Given the description of an element on the screen output the (x, y) to click on. 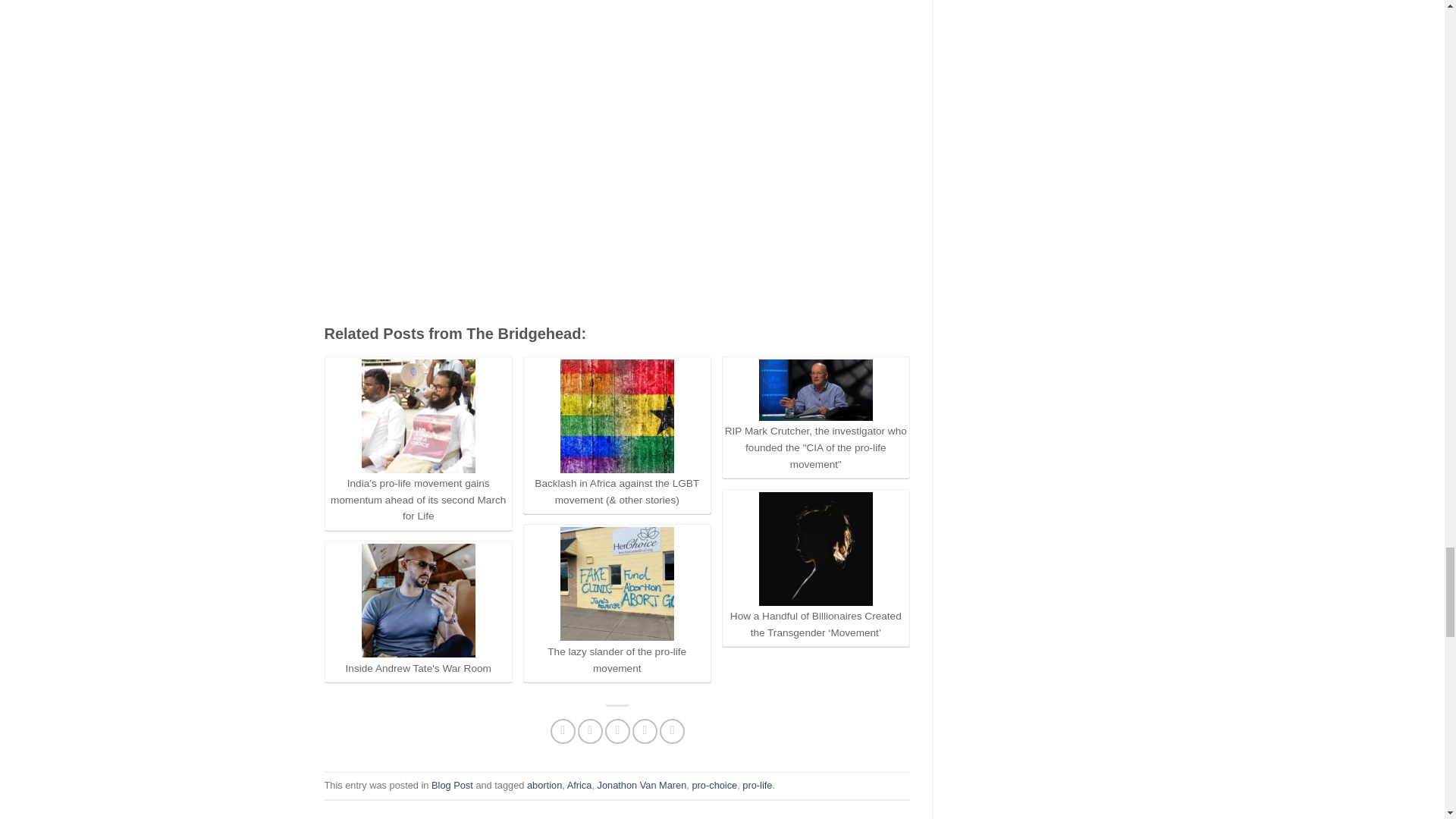
The lazy slander of the pro-life movement (617, 583)
Inside Andrew Tate's War Room (418, 600)
